Given the description of an element on the screen output the (x, y) to click on. 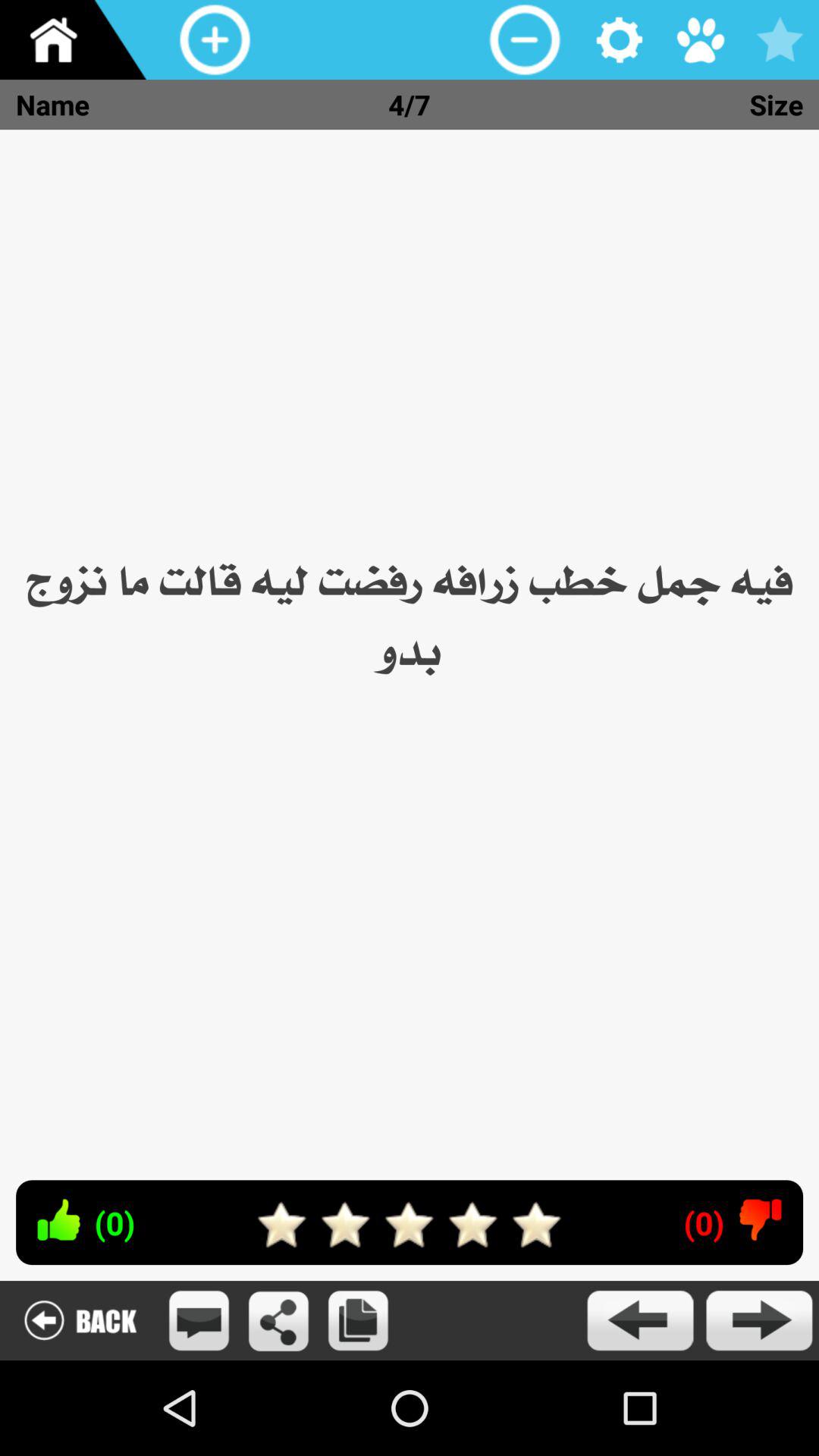
down vote the content (760, 1219)
